Given the description of an element on the screen output the (x, y) to click on. 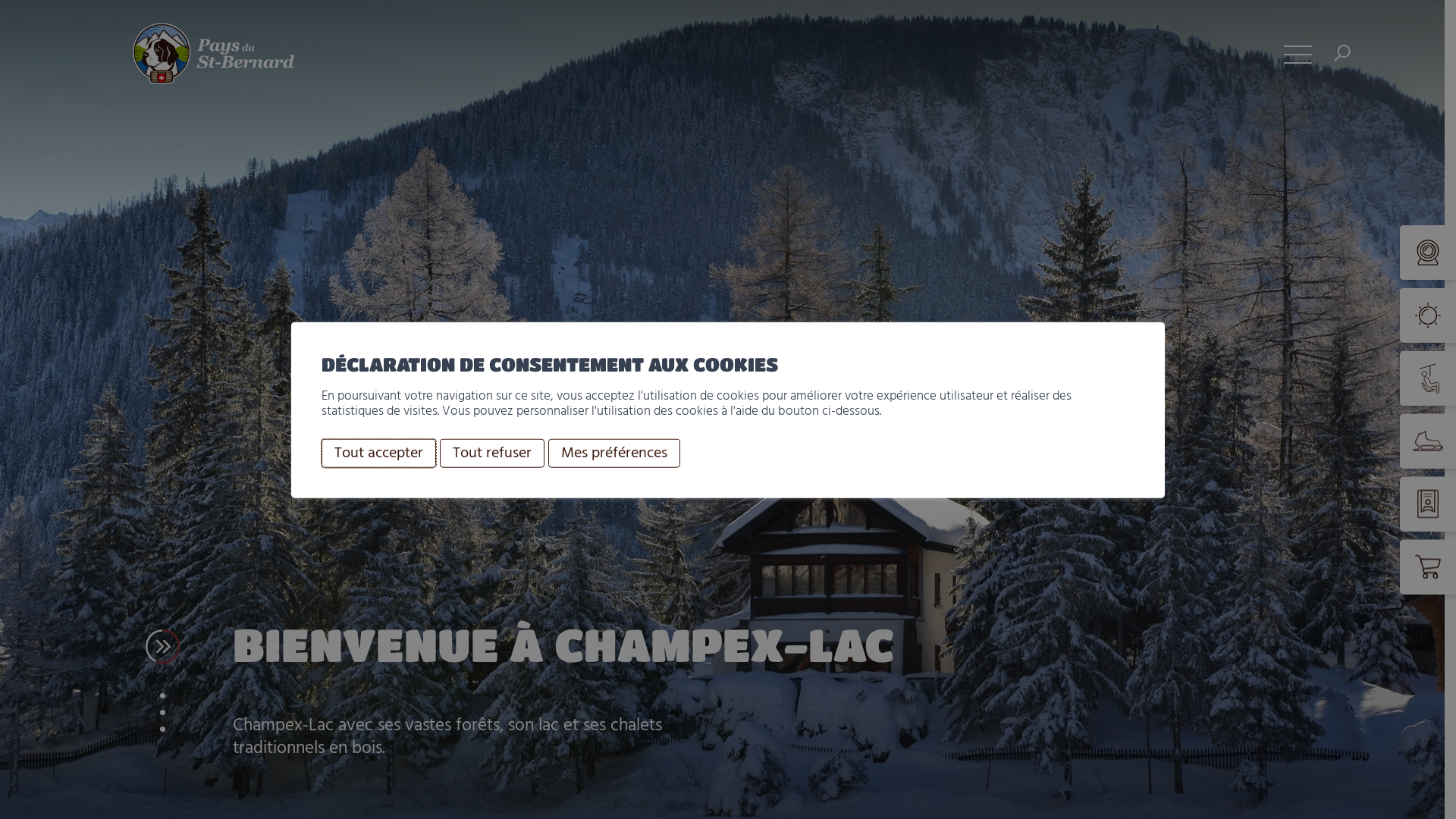
Tout accepter Element type: text (378, 452)
Rechercher Element type: text (1341, 53)
Menu principal Element type: hover (1297, 53)
Tout refuser Element type: text (491, 452)
